Given the description of an element on the screen output the (x, y) to click on. 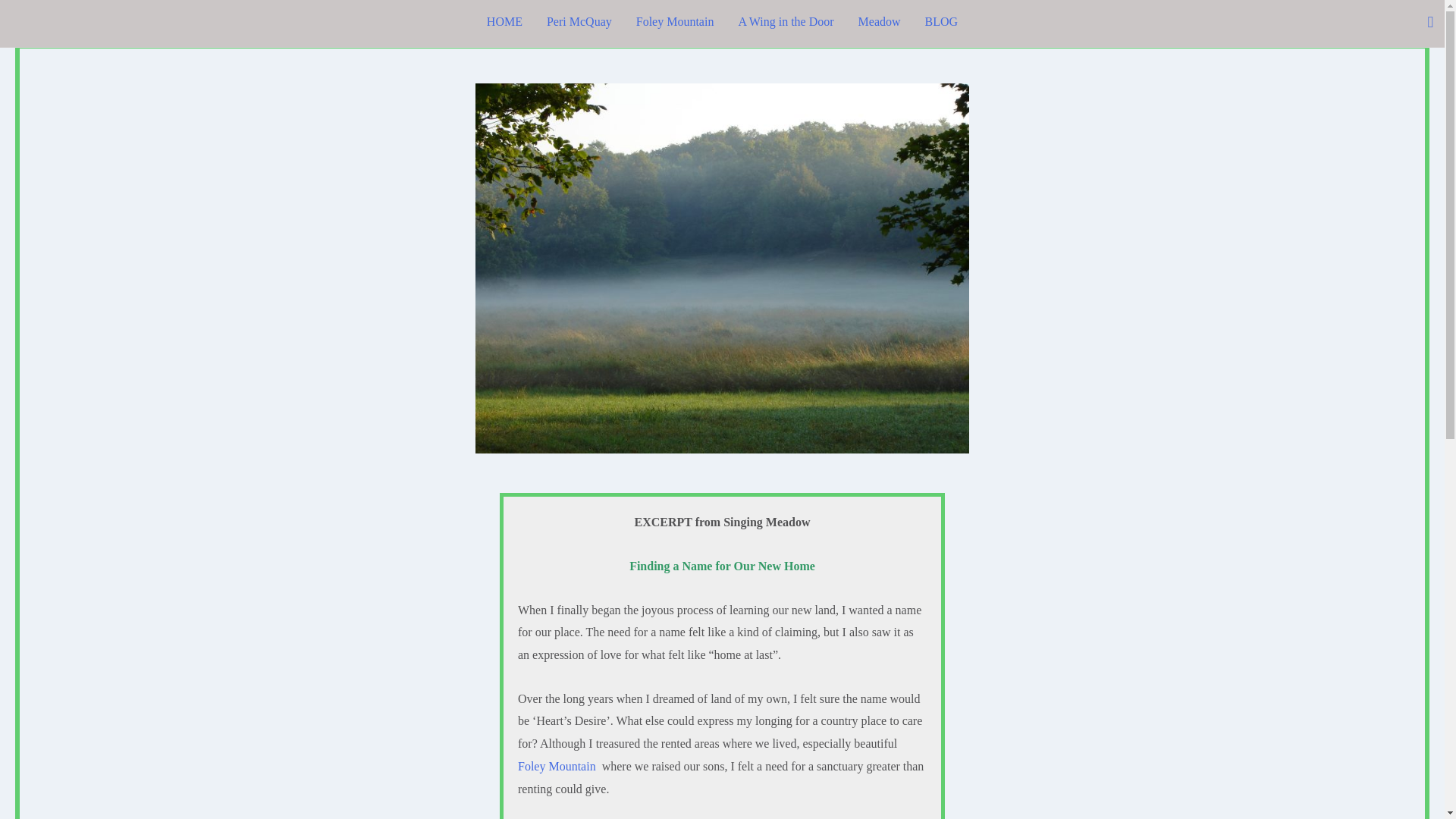
Foley Mountain (556, 766)
Meadow (878, 23)
Foley Mountain (556, 766)
A Wing in the Door (785, 23)
BLOG (941, 23)
HOME (504, 23)
Peri McQuay (579, 23)
Foley Mountain (675, 23)
